Given the description of an element on the screen output the (x, y) to click on. 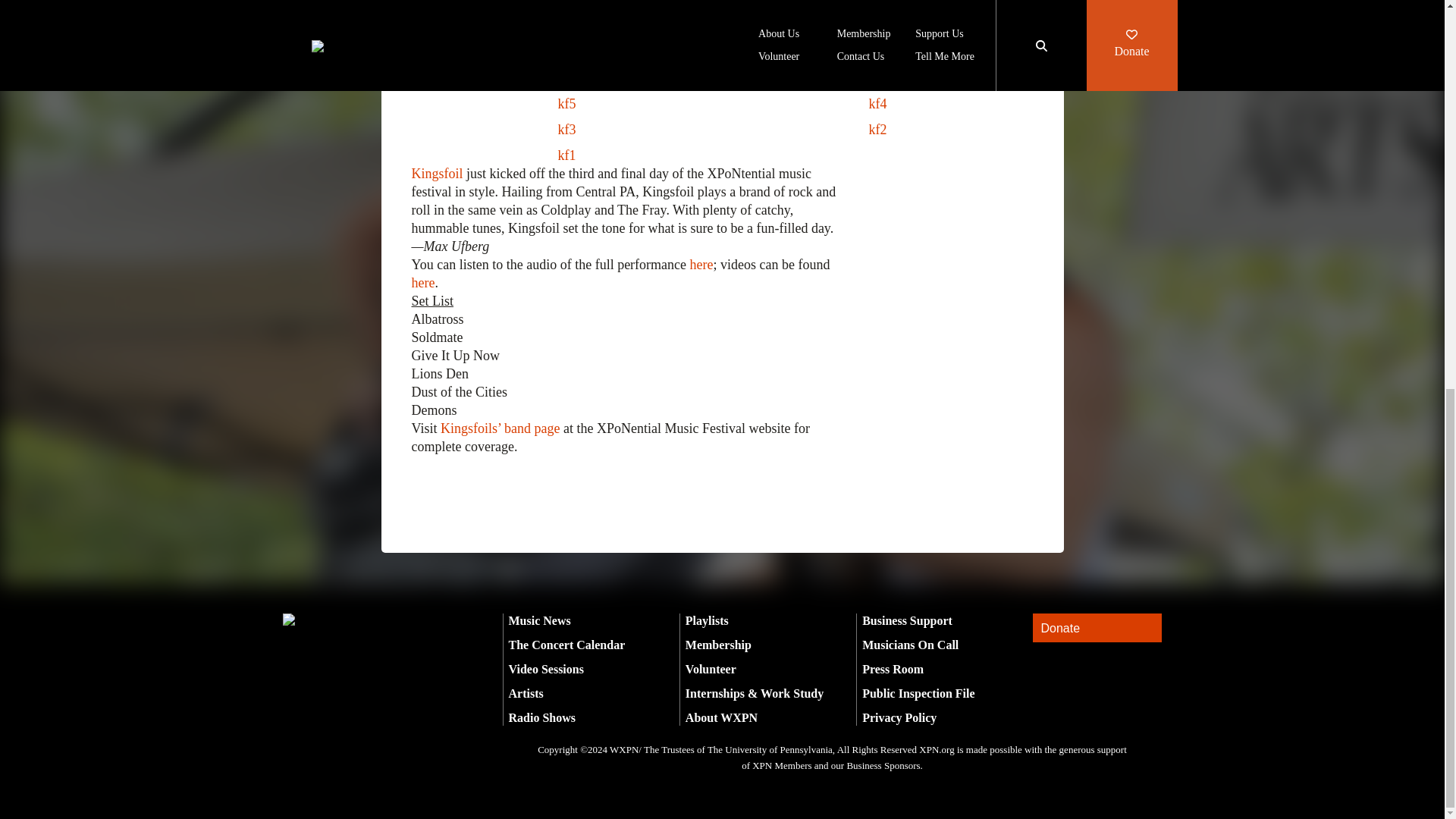
The Key (447, 21)
Music News (539, 620)
kf5 (566, 103)
The Concert Calendar (566, 644)
kf3 (566, 129)
Volunteer (710, 668)
Public Inspection File (917, 693)
Musicians On Call (909, 644)
About WXPN (721, 717)
Membership (718, 644)
Artists (525, 693)
Playlists (707, 620)
here (421, 282)
kf2 (877, 129)
kf1 (566, 155)
